Given the description of an element on the screen output the (x, y) to click on. 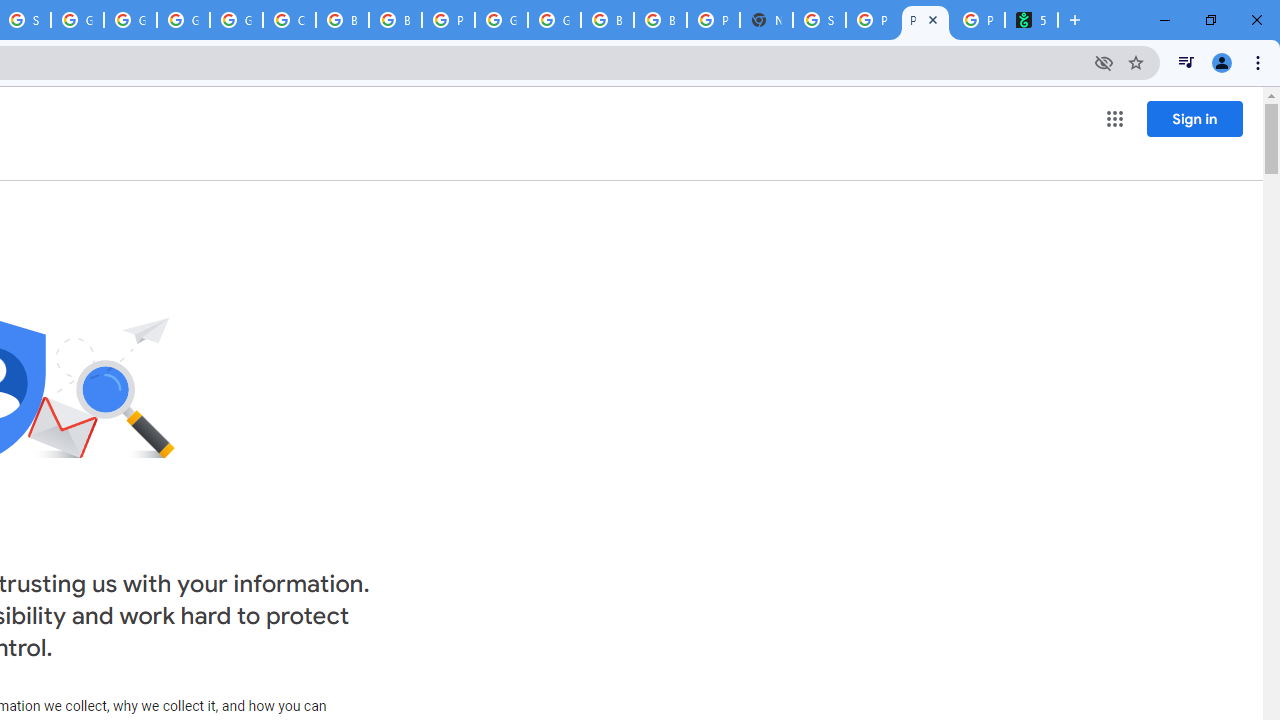
Third-party cookies blocked (1103, 62)
Browse Chrome as a guest - Computer - Google Chrome Help (660, 20)
Browse Chrome as a guest - Computer - Google Chrome Help (395, 20)
Control your music, videos, and more (1185, 62)
Google Cloud Platform (501, 20)
Sign in - Google Accounts (819, 20)
